Given the description of an element on the screen output the (x, y) to click on. 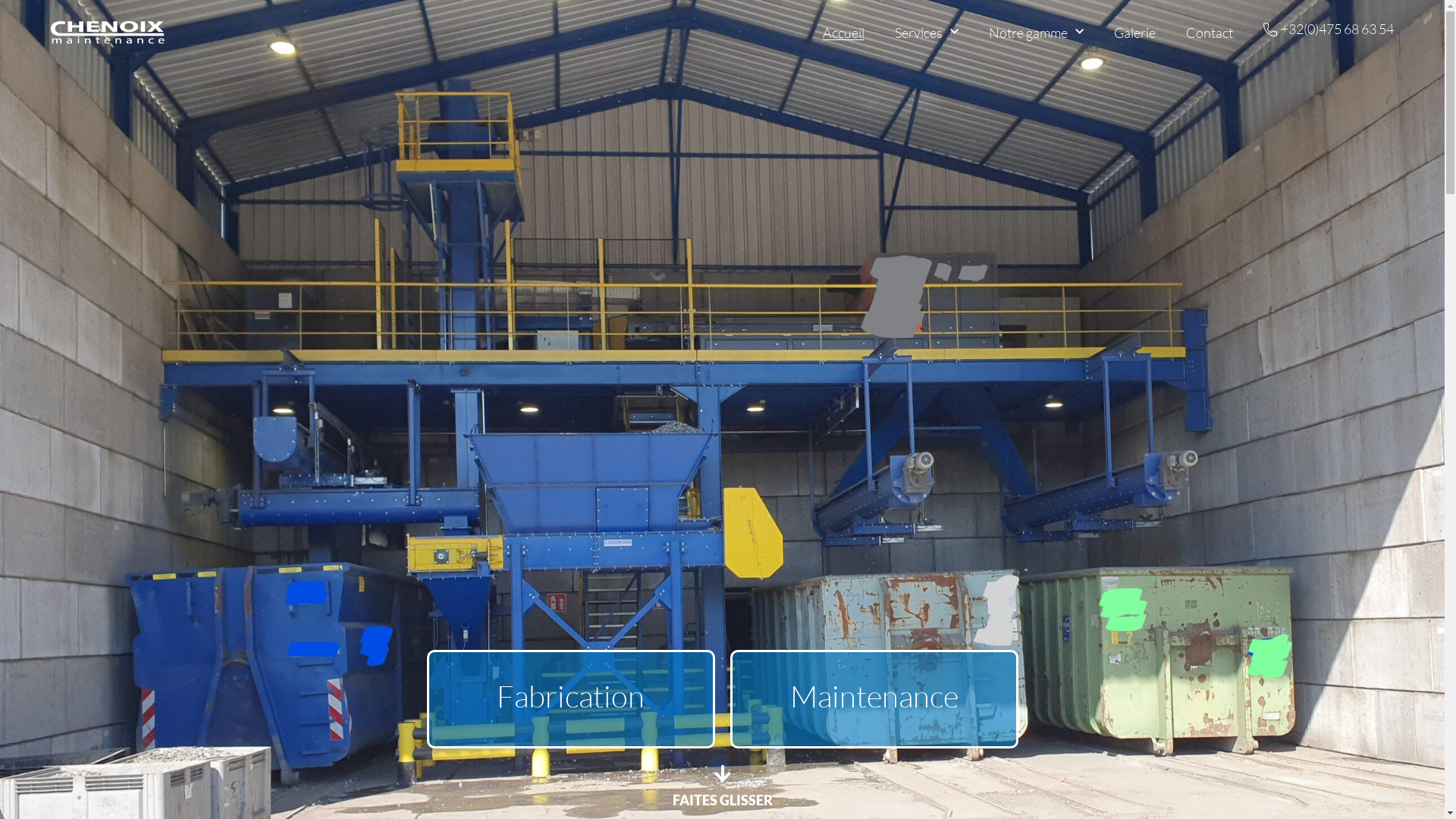
Services Element type: text (926, 31)
Contact Element type: text (1209, 31)
Galerie Element type: text (1134, 31)
Notre gamme Element type: text (1035, 31)
call-icon
+32(0)475 68 63 54 Element type: text (1328, 29)
Accueil Element type: text (843, 31)
